Given the description of an element on the screen output the (x, y) to click on. 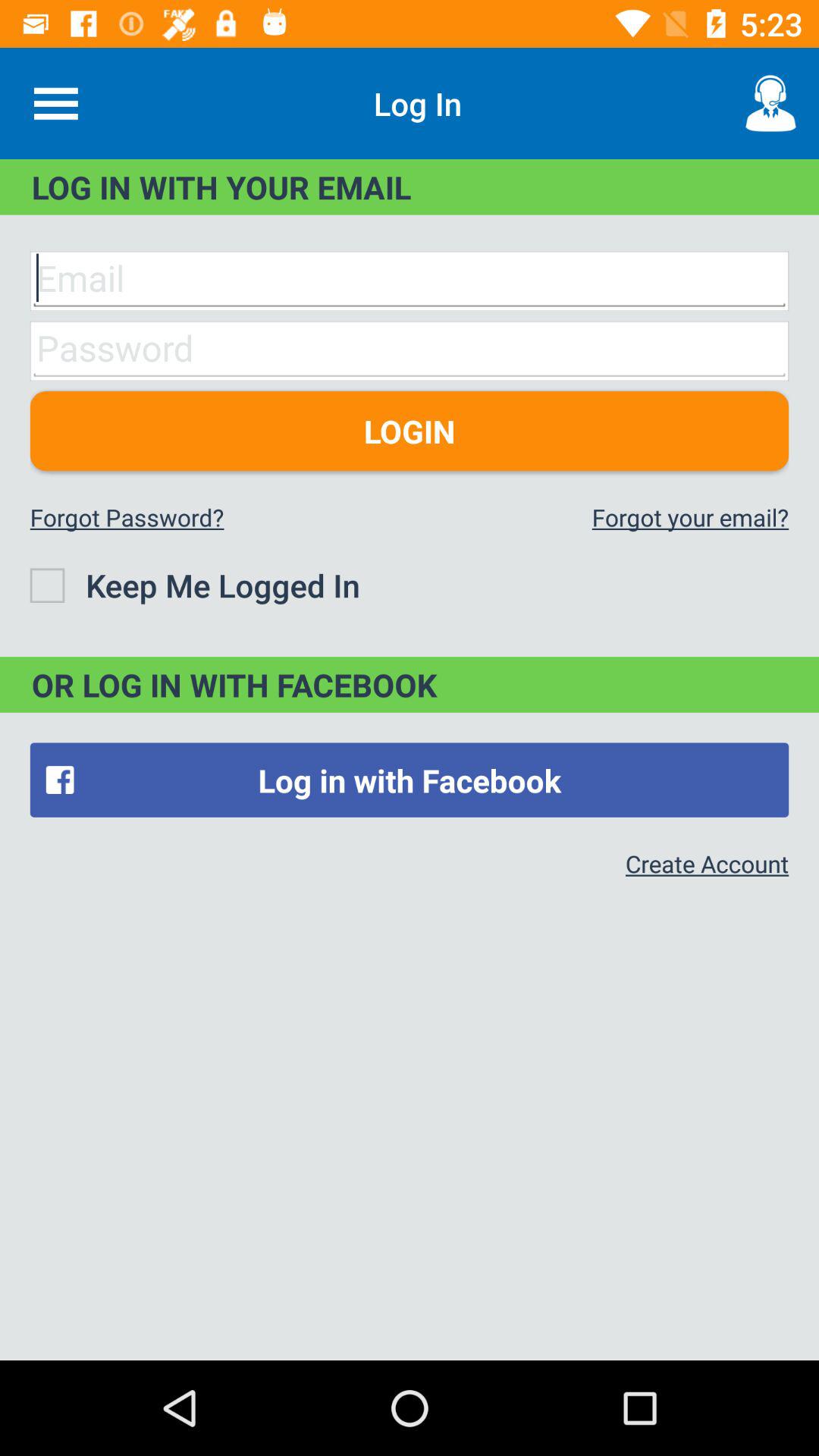
choose the keep me logged item (195, 584)
